Given the description of an element on the screen output the (x, y) to click on. 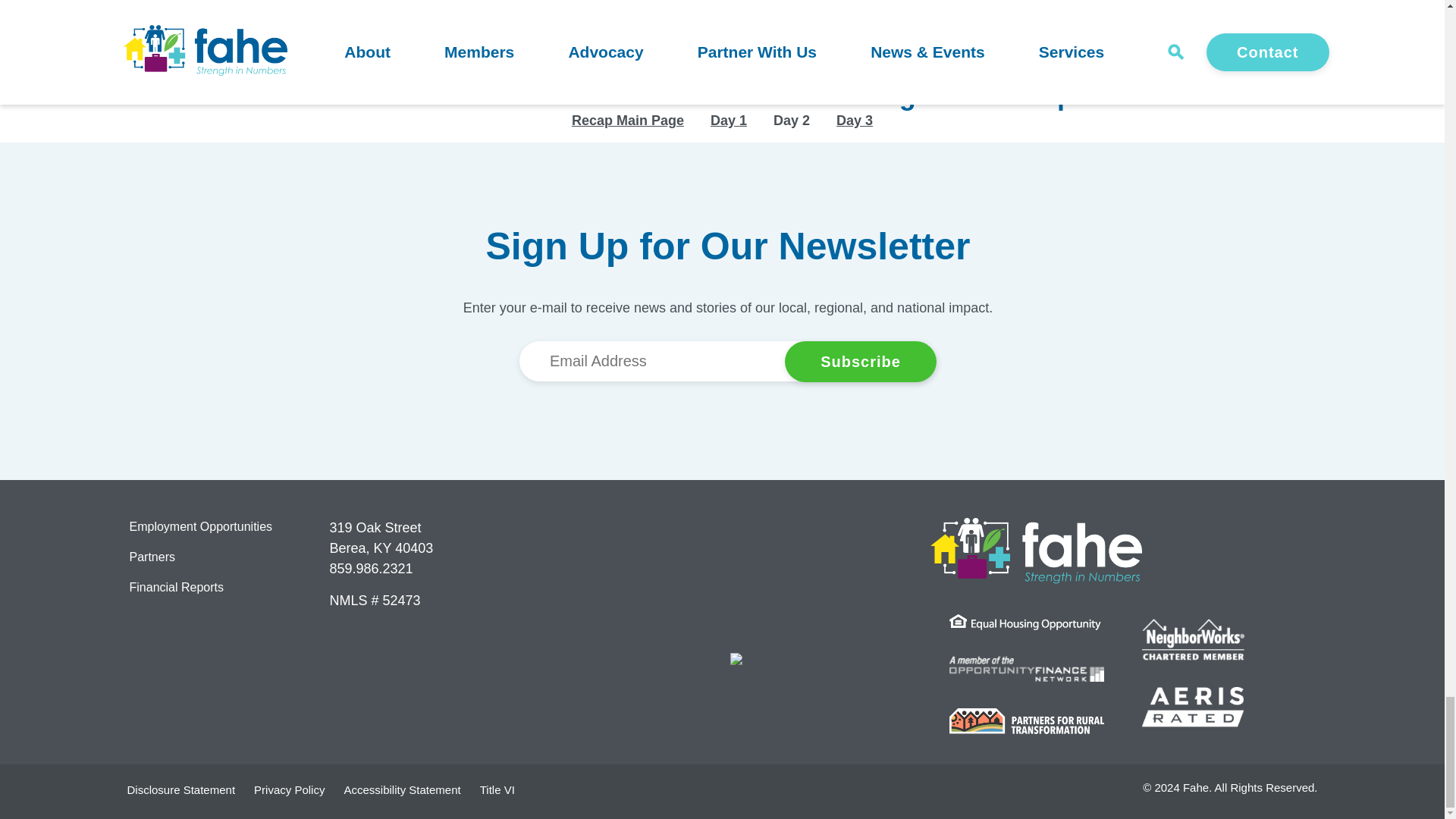
Recap Main Page (628, 120)
Subscribe (860, 361)
